Given the description of an element on the screen output the (x, y) to click on. 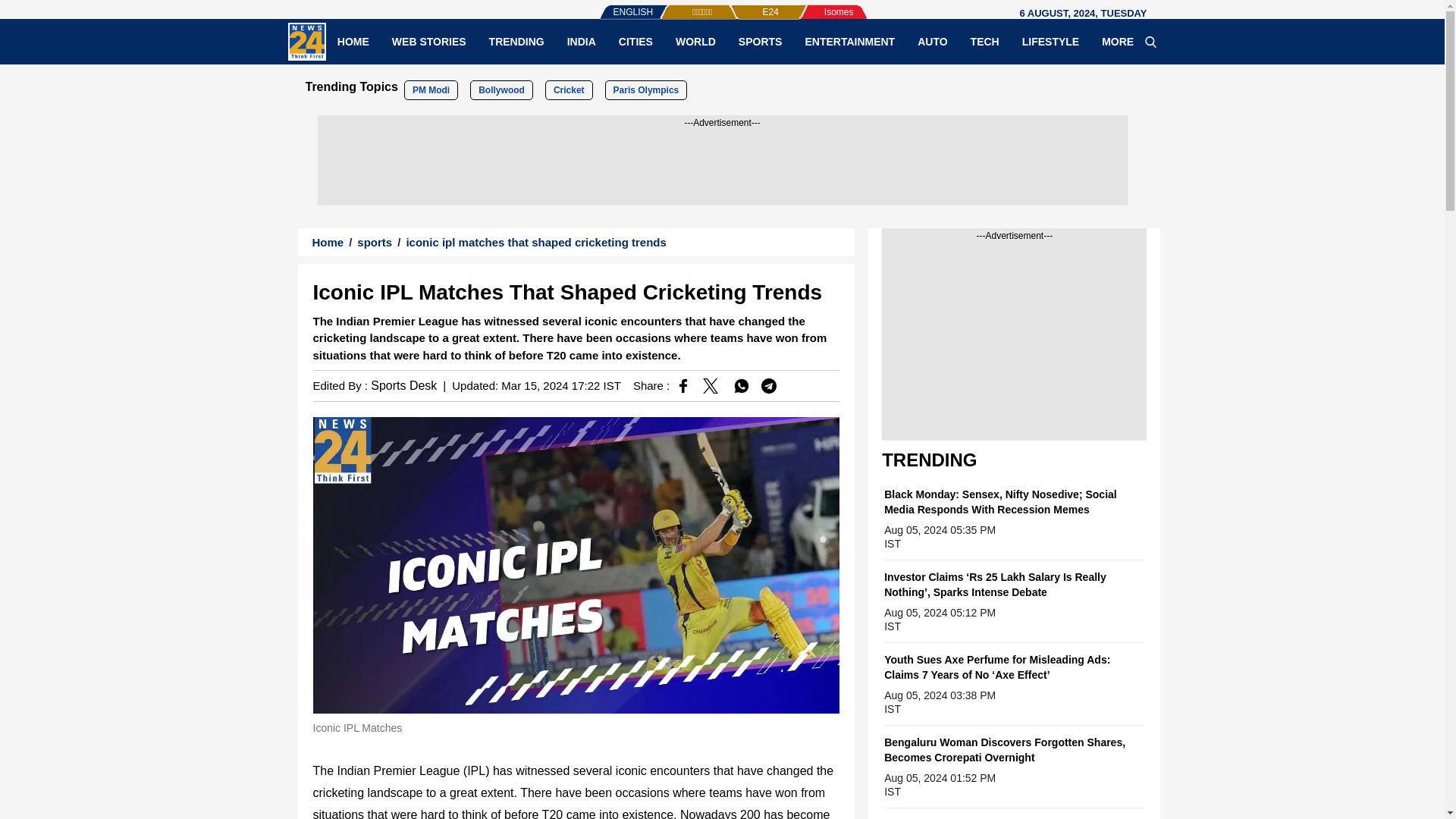
CITIES (635, 41)
ENTERTAINMENT (849, 41)
WORLD (694, 41)
ENGLISH (601, 4)
HOME (353, 41)
Isomes (814, 4)
AUTO (931, 41)
E24 (744, 4)
SPORTS (759, 41)
WEB STORIES (428, 41)
TRENDING (516, 41)
TECH (984, 41)
INDIA (581, 41)
LIFESTYLE (1050, 41)
